Given the description of an element on the screen output the (x, y) to click on. 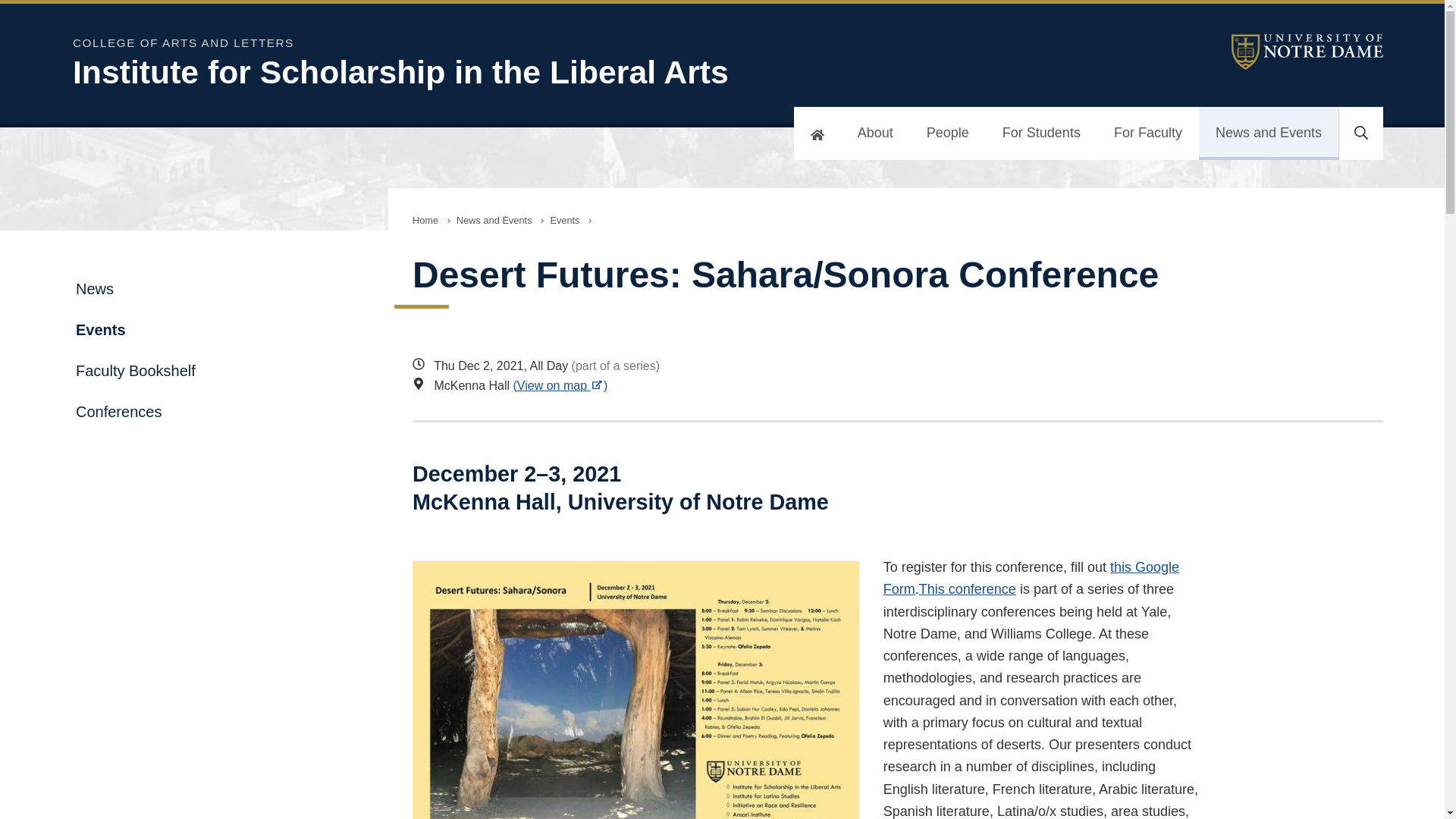
News and Events (1268, 133)
Institute for Scholarship in the Liberal Arts (466, 72)
About (875, 133)
News and Events (493, 220)
For Faculty (1147, 133)
Home (425, 220)
this Google Form (1031, 578)
People (947, 133)
This conference (967, 589)
For Students (1041, 133)
